Given the description of an element on the screen output the (x, y) to click on. 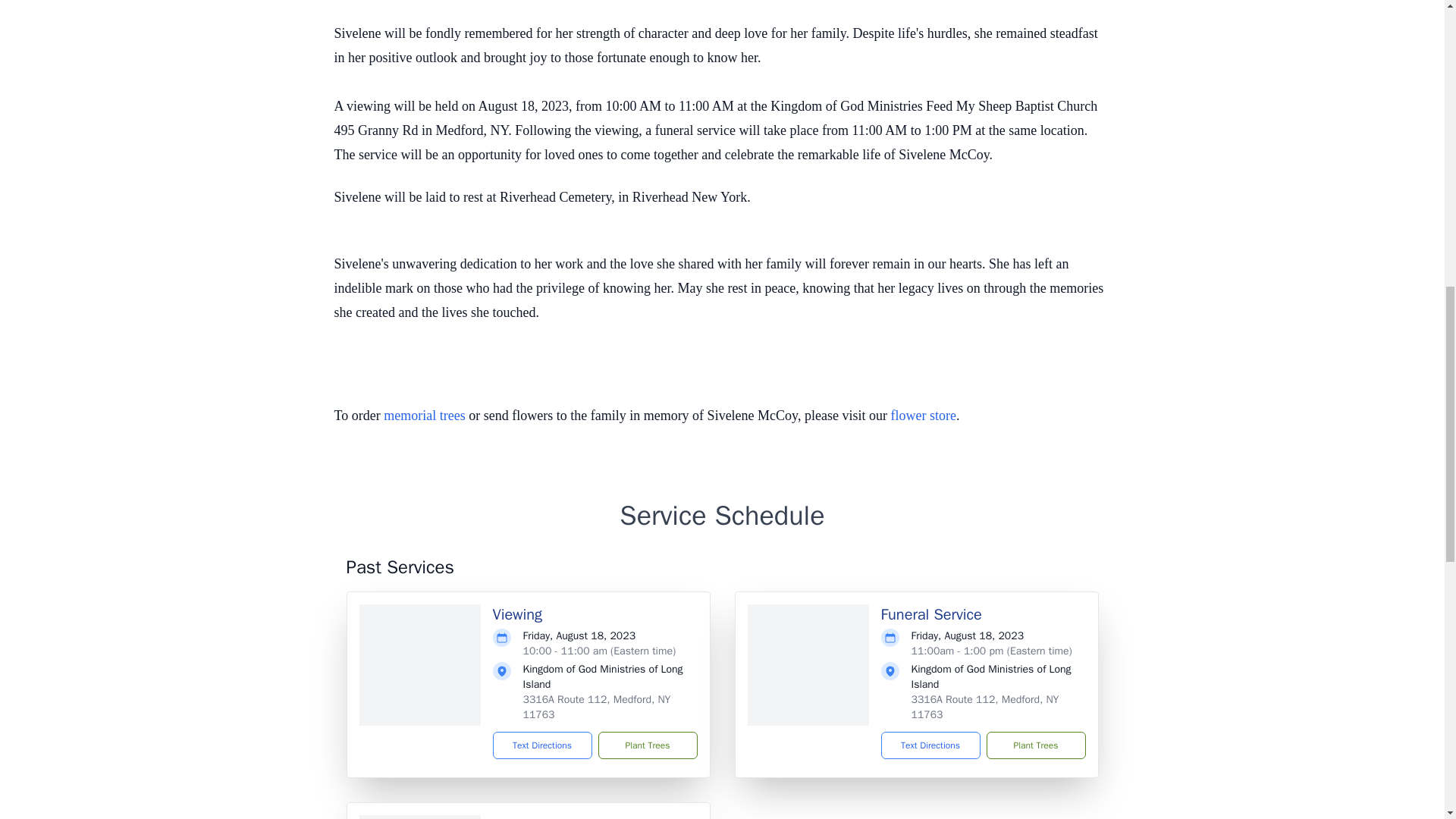
flower store (922, 415)
memorial trees (424, 415)
3316A Route 112, Medford, NY 11763 (596, 706)
Plant Trees (1034, 745)
3316A Route 112, Medford, NY 11763 (985, 706)
Text Directions (929, 745)
Text Directions (542, 745)
Plant Trees (646, 745)
